Given the description of an element on the screen output the (x, y) to click on. 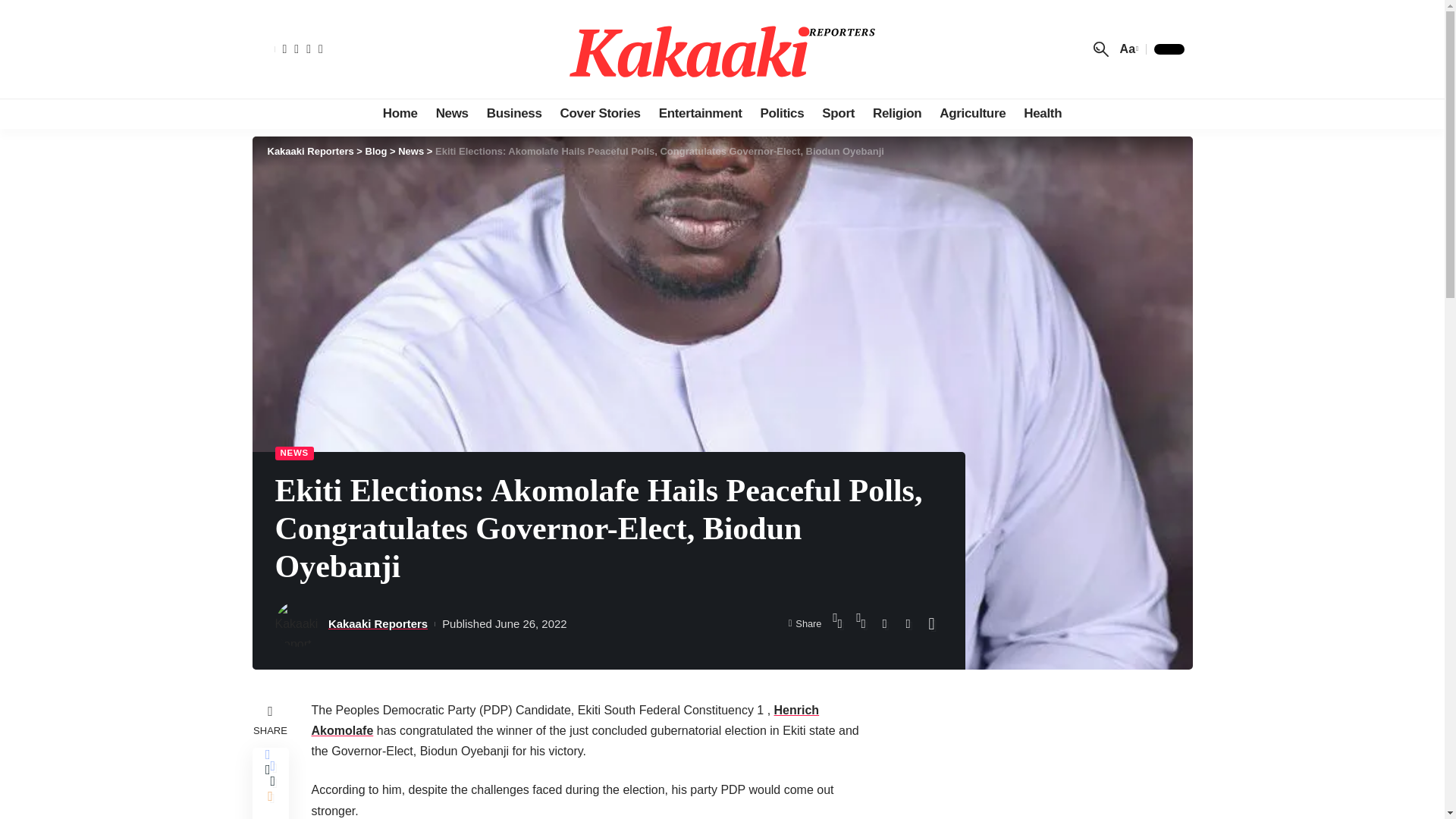
Religion (896, 113)
Sport (837, 113)
Cover Stories (600, 113)
Go to Kakaaki Reporters. (309, 151)
Kakaaki Reporters (721, 48)
News (451, 113)
Entertainment (700, 113)
Agriculture (972, 113)
Go to the News Category archives. (410, 151)
Go to Blog. (376, 151)
Aa (1127, 48)
Politics (782, 113)
Business (514, 113)
Health (1042, 113)
Home (400, 113)
